Given the description of an element on the screen output the (x, y) to click on. 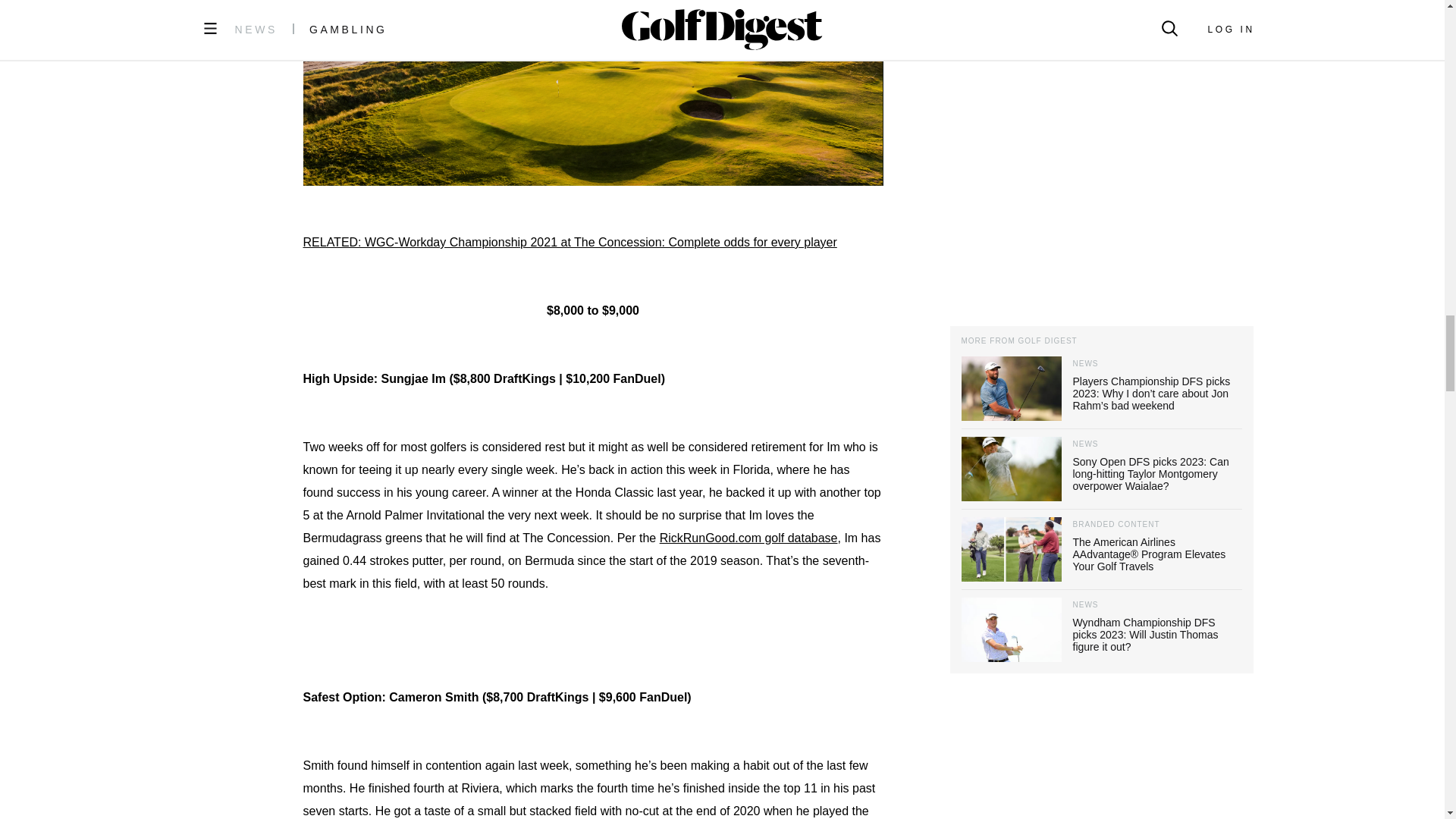
Play Video (593, 29)
